Given the description of an element on the screen output the (x, y) to click on. 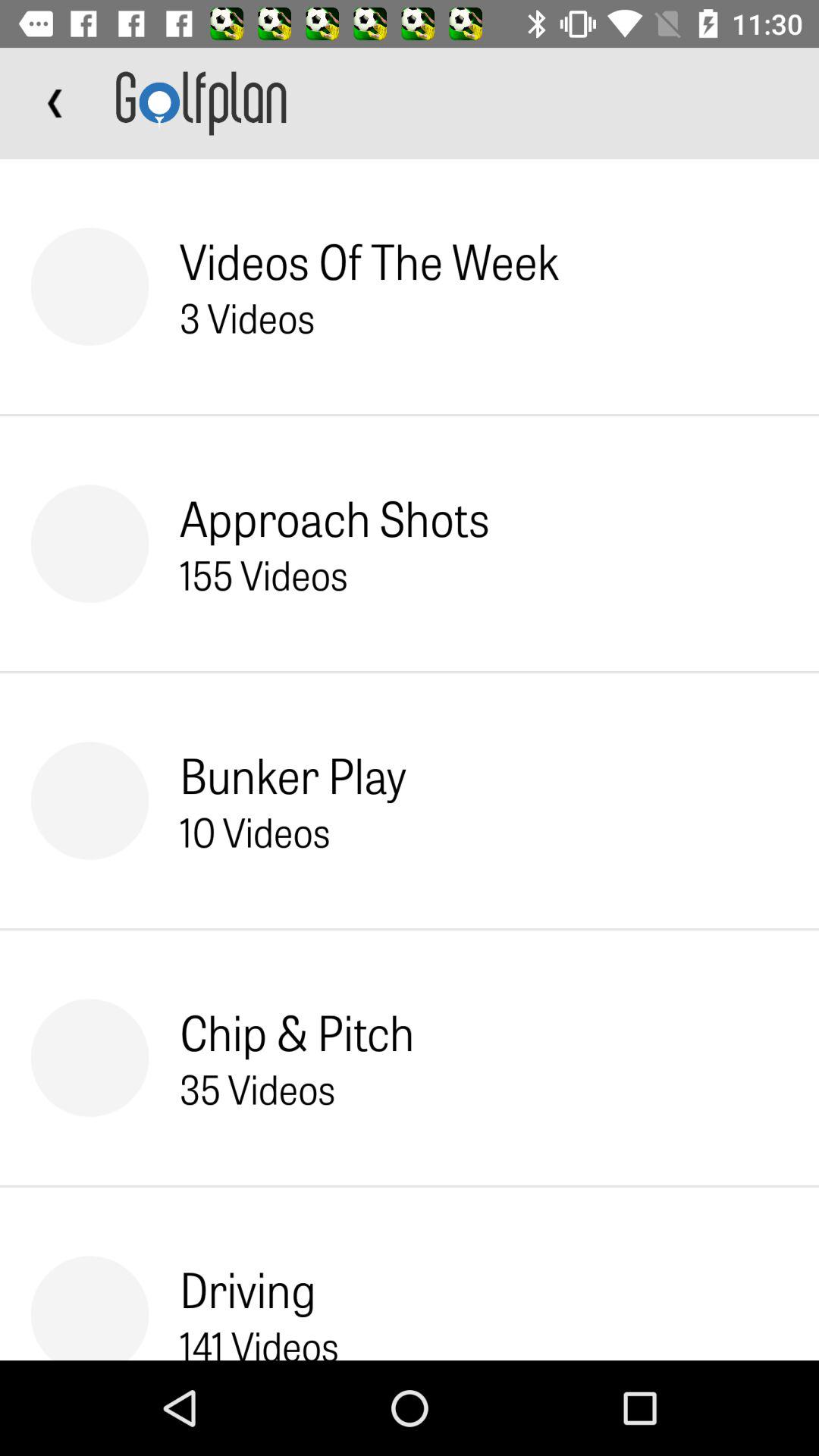
launch icon above the 155 videos icon (334, 517)
